Given the description of an element on the screen output the (x, y) to click on. 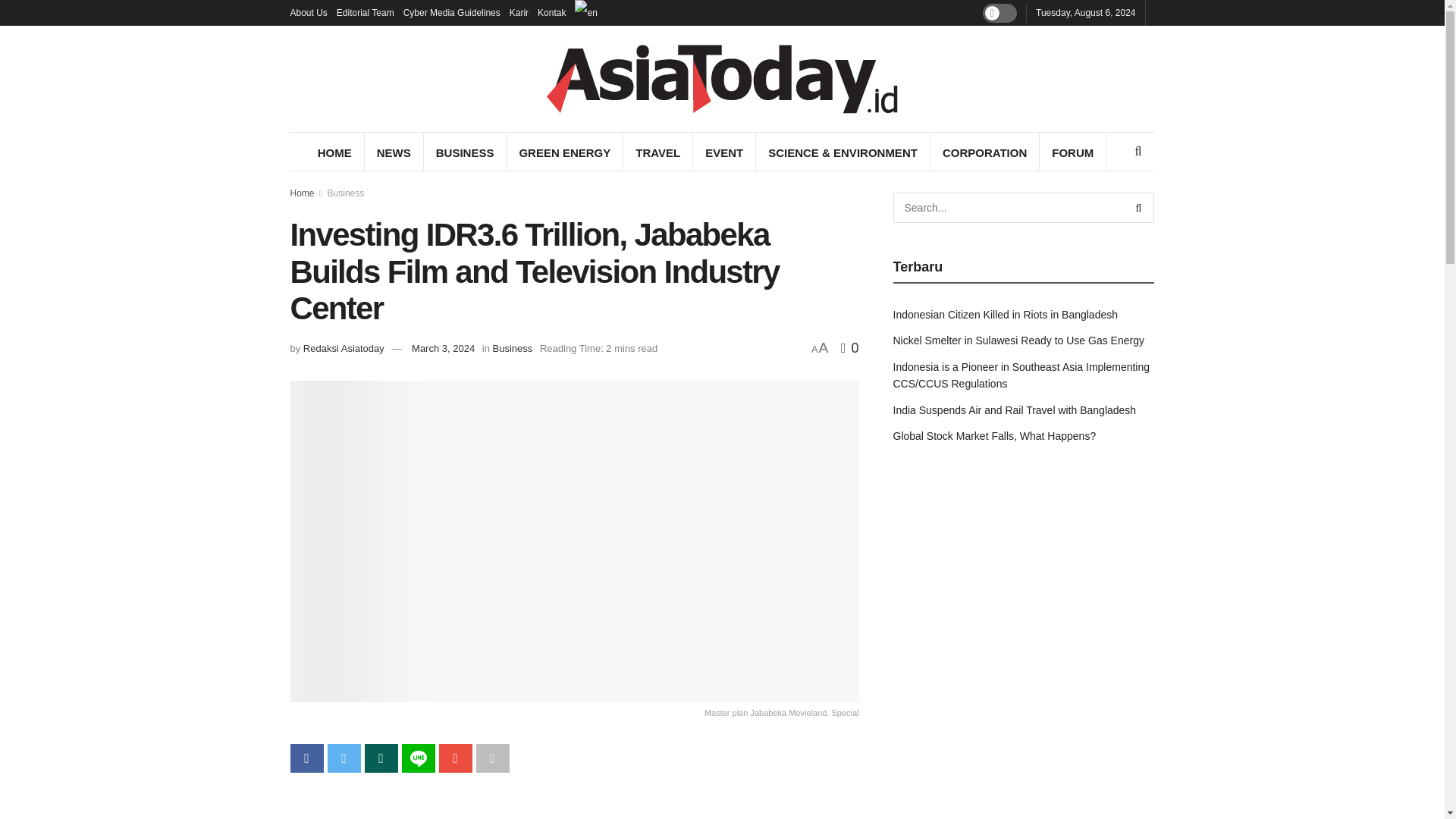
Cyber Media Guidelines (451, 12)
Editorial Team (365, 12)
CORPORATION (984, 152)
HOME (334, 152)
EVENT (723, 152)
NEWS (393, 152)
BUSINESS (465, 152)
About Us (307, 12)
Kontak (551, 12)
FORUM (1072, 152)
GREEN ENERGY (564, 152)
TRAVEL (656, 152)
